Given the description of an element on the screen output the (x, y) to click on. 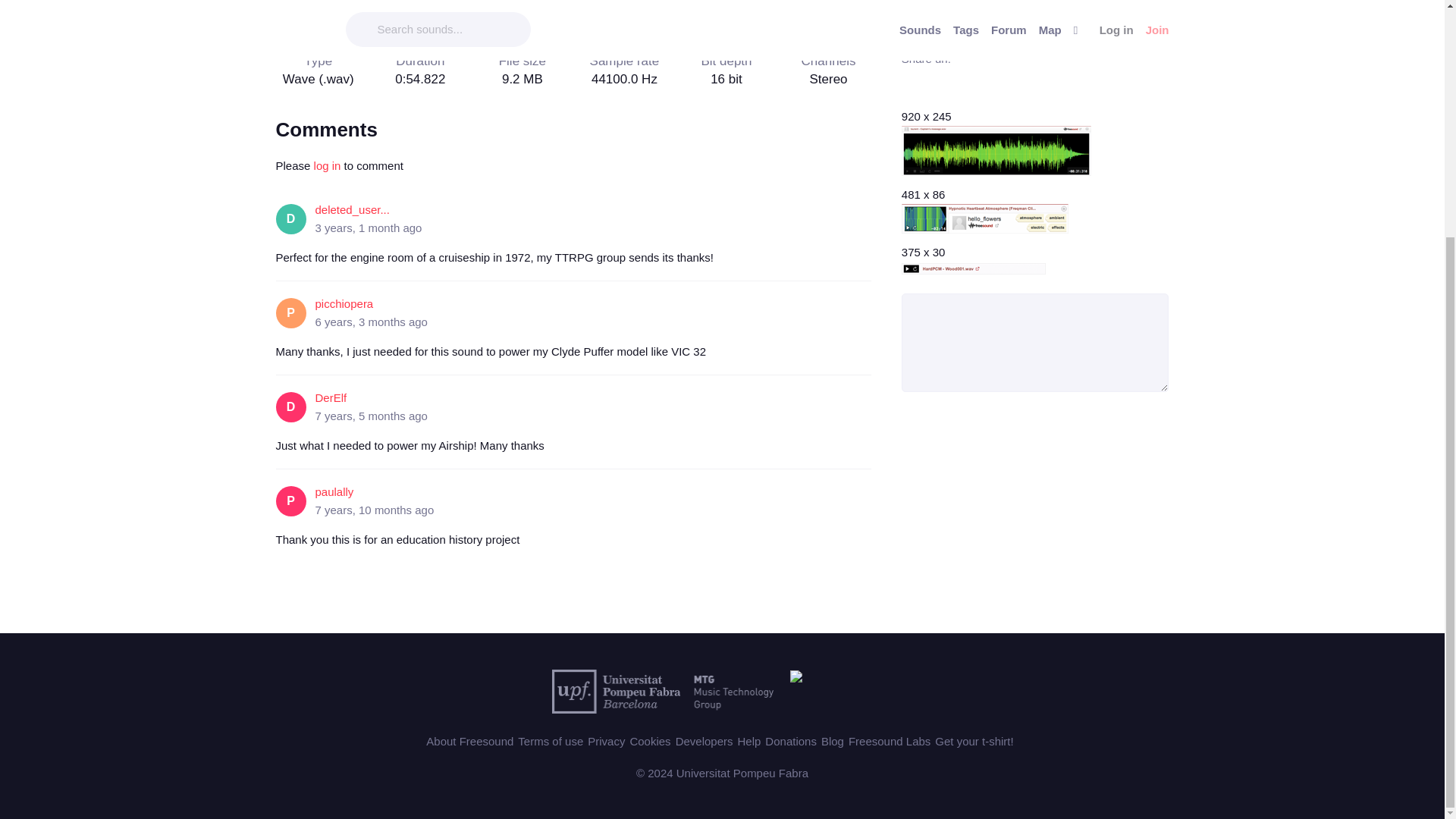
picchiopera (344, 303)
steam (451, 6)
compound (307, 6)
engine (502, 6)
room (405, 6)
boat (363, 6)
log in (327, 164)
